Given the description of an element on the screen output the (x, y) to click on. 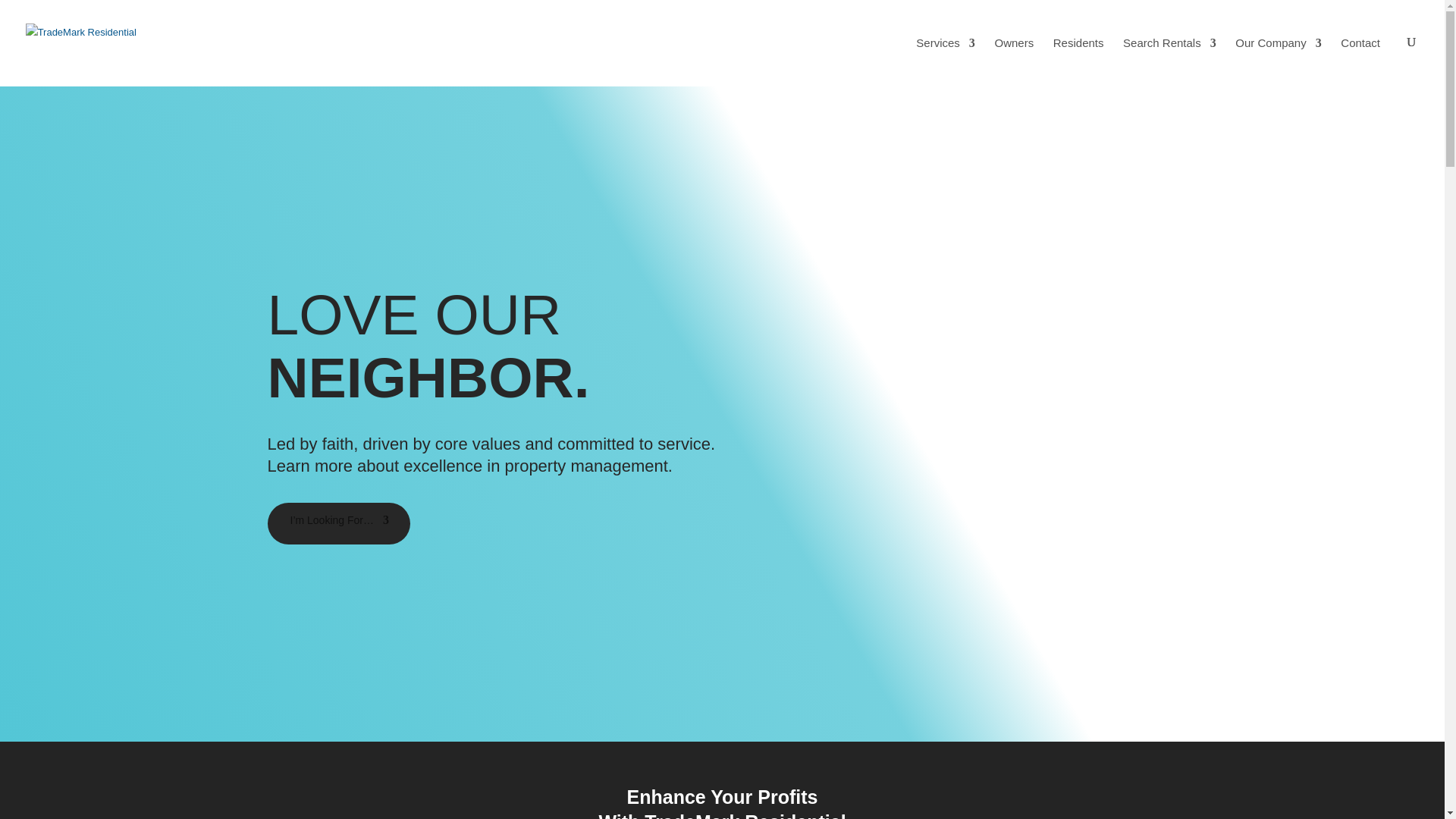
Residents (1077, 44)
Services (945, 44)
Contact (1360, 44)
Search Rentals (1168, 44)
Our Company (1277, 44)
Owners (1013, 44)
